Given the description of an element on the screen output the (x, y) to click on. 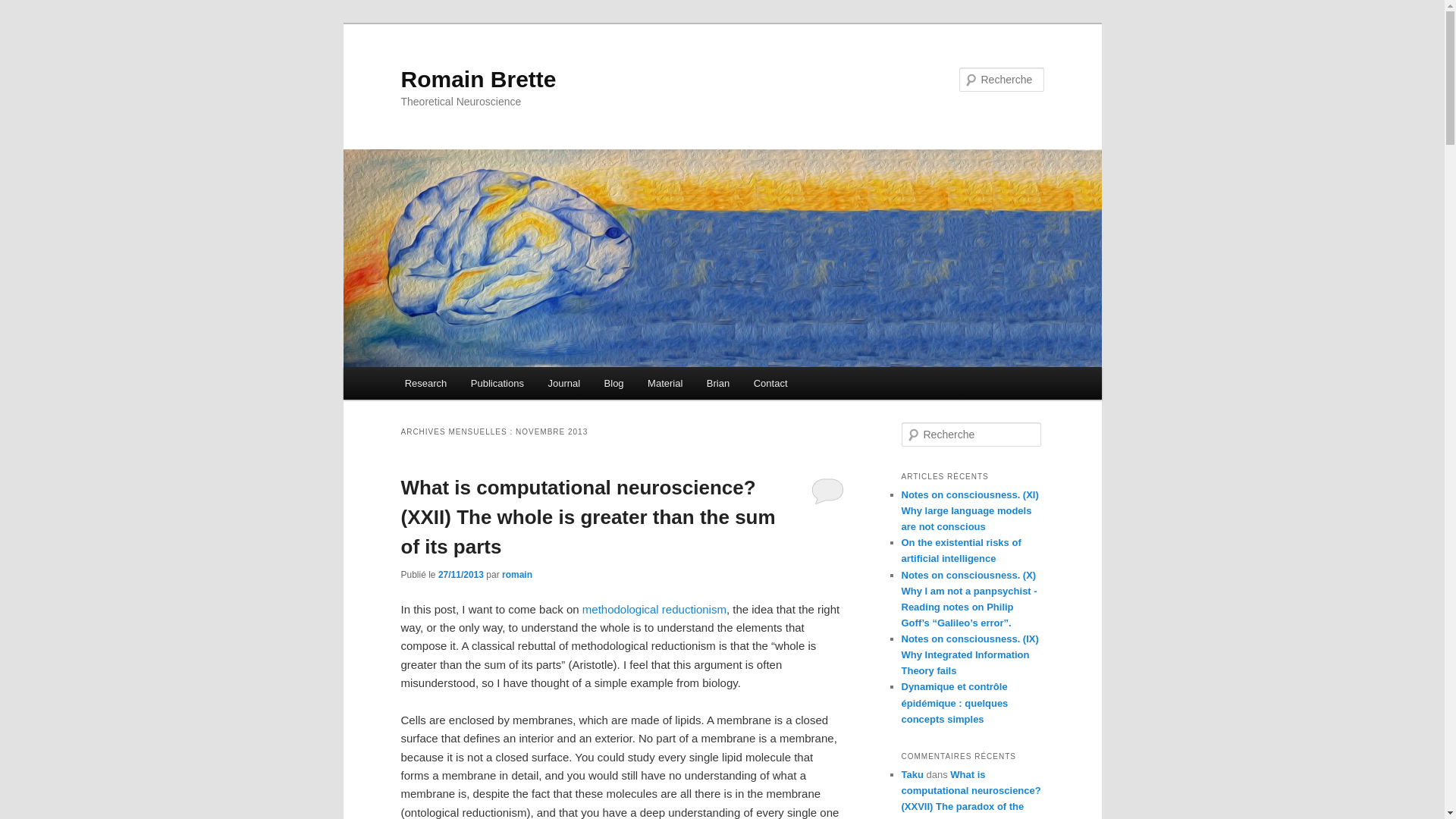
Blog (614, 382)
11:57   (460, 574)
Publications (496, 382)
Afficher tous les articles par romain (517, 574)
romain (517, 574)
Journal (563, 382)
Research (425, 382)
Contact (770, 382)
Recherche (33, 8)
Material (664, 382)
